Given the description of an element on the screen output the (x, y) to click on. 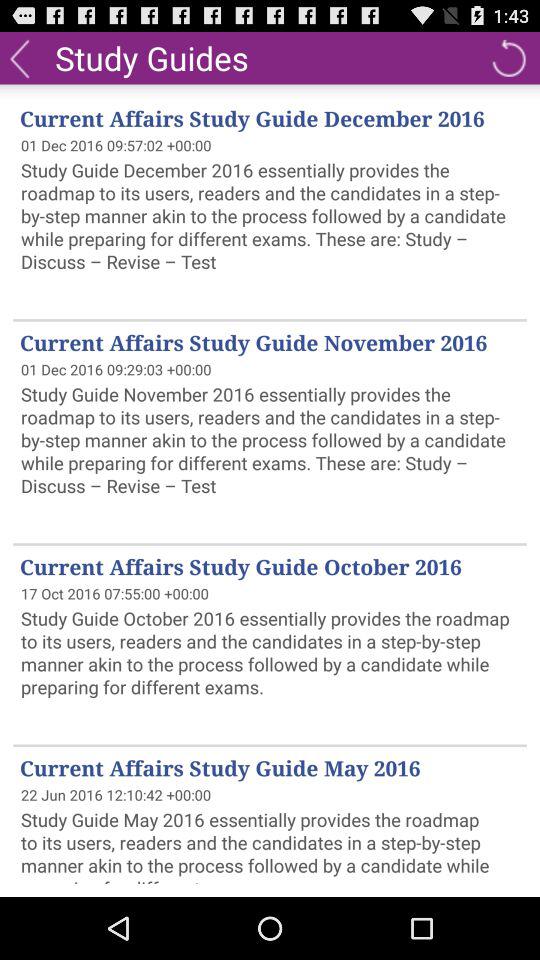
select the icon above current affairs study (508, 57)
